Given the description of an element on the screen output the (x, y) to click on. 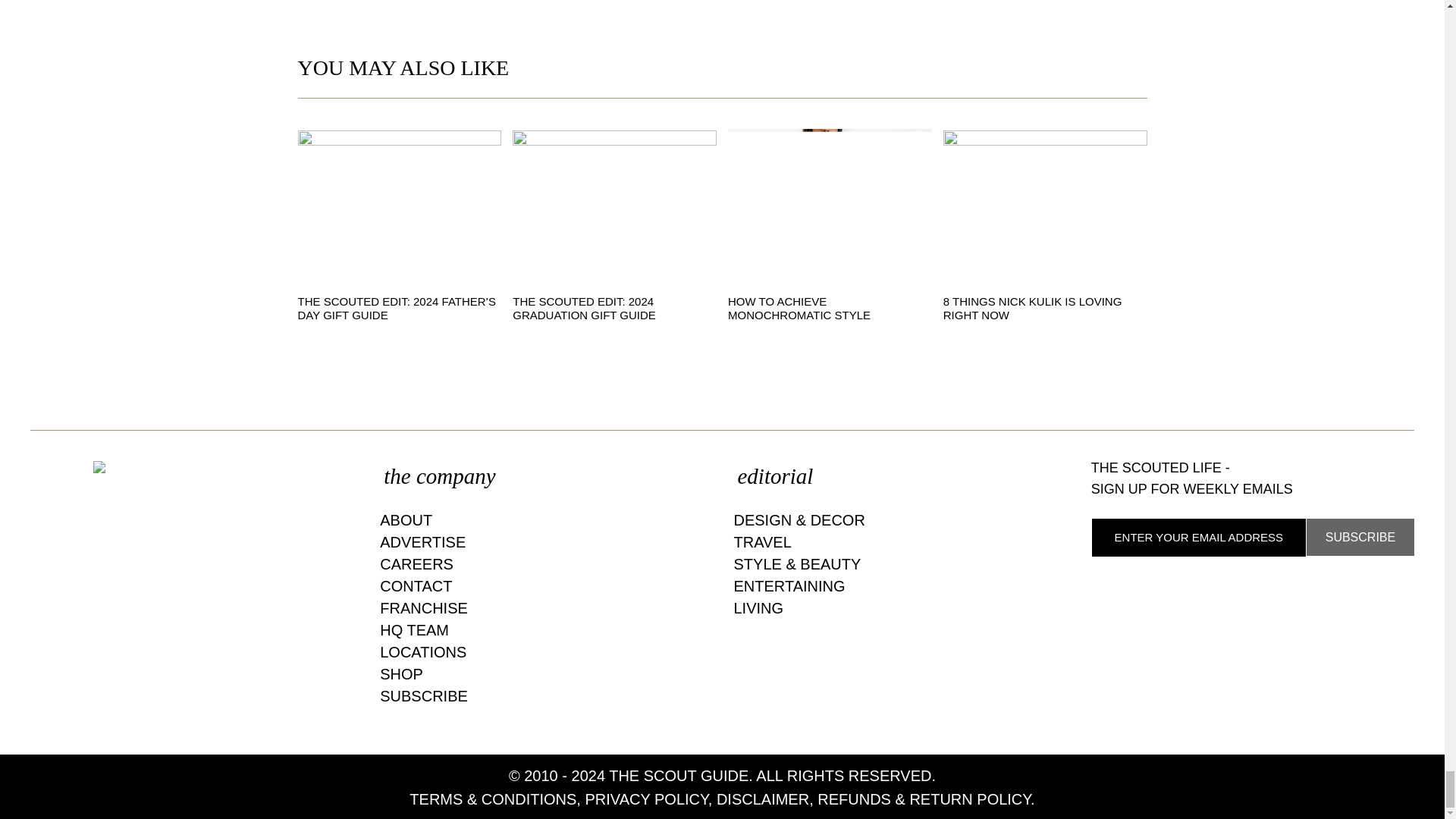
How to Achieve Monochromatic Style (799, 307)
8 Things Nick Kulik Is Loving Right Now (1045, 207)
The Scout Guide Icon Logo (191, 467)
The Scouted Edit: 2024 Graduation Gift Guide (614, 207)
The Scouted Edit: 2024 Graduation Gift Guide (584, 307)
How to Achieve Monochromatic Style (829, 207)
Subscribe (1359, 537)
8 Things Nick Kulik Is Loving Right Now (1032, 307)
